Given the description of an element on the screen output the (x, y) to click on. 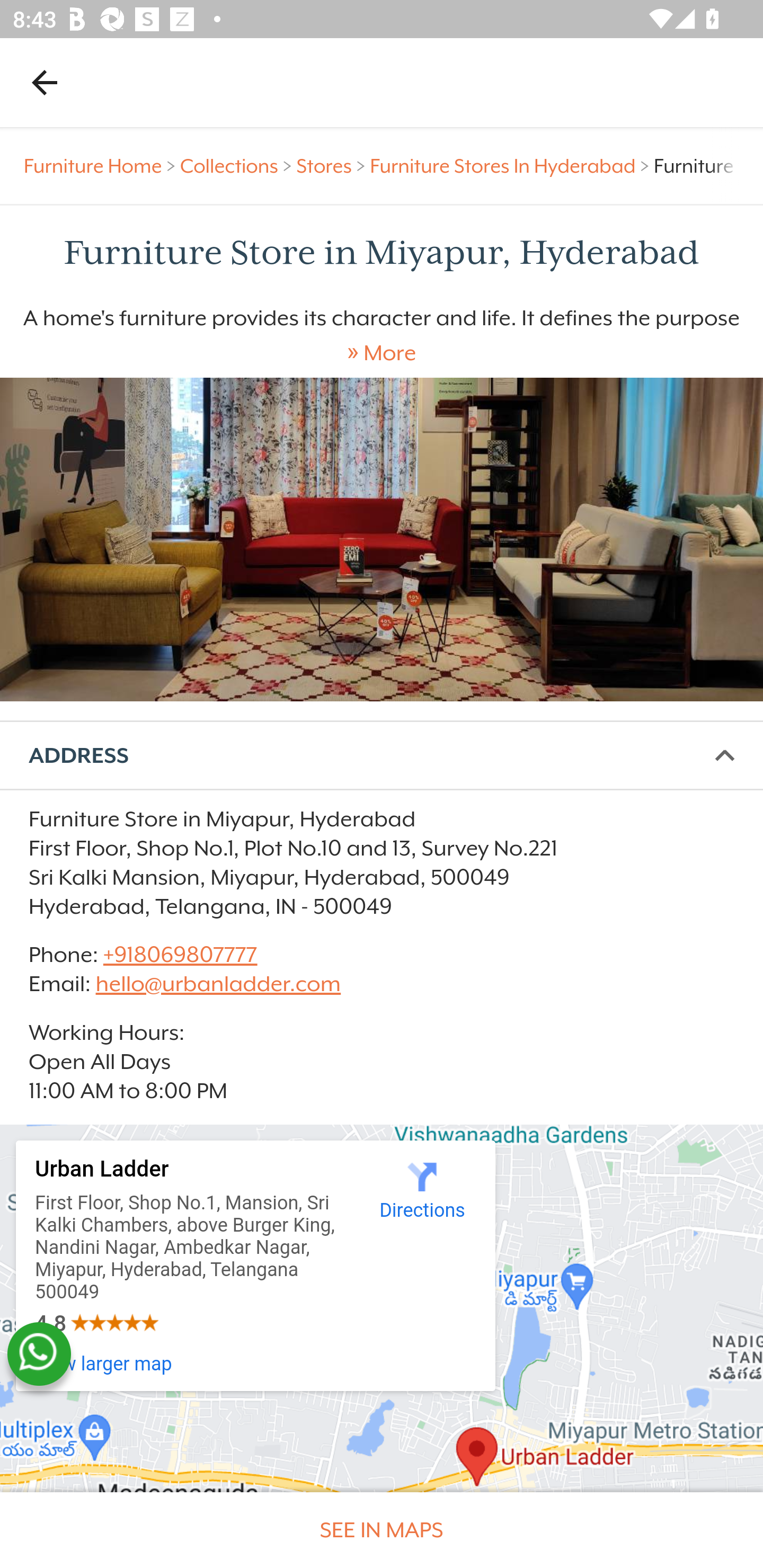
Navigate up (44, 82)
Furniture Home >  Furniture Home  >  (102, 165)
Collections >  Collections  >  (238, 165)
Stores >  Stores  >  (333, 165)
» More (381, 353)
Experience Centre (381, 539)
ADDRESS (381, 756)
+918069807777 (179, 953)
hello@urbanladder.com (218, 983)
whatsapp (38, 1353)
View larger map (104, 1363)
SEE IN MAPS (381, 1530)
